Given the description of an element on the screen output the (x, y) to click on. 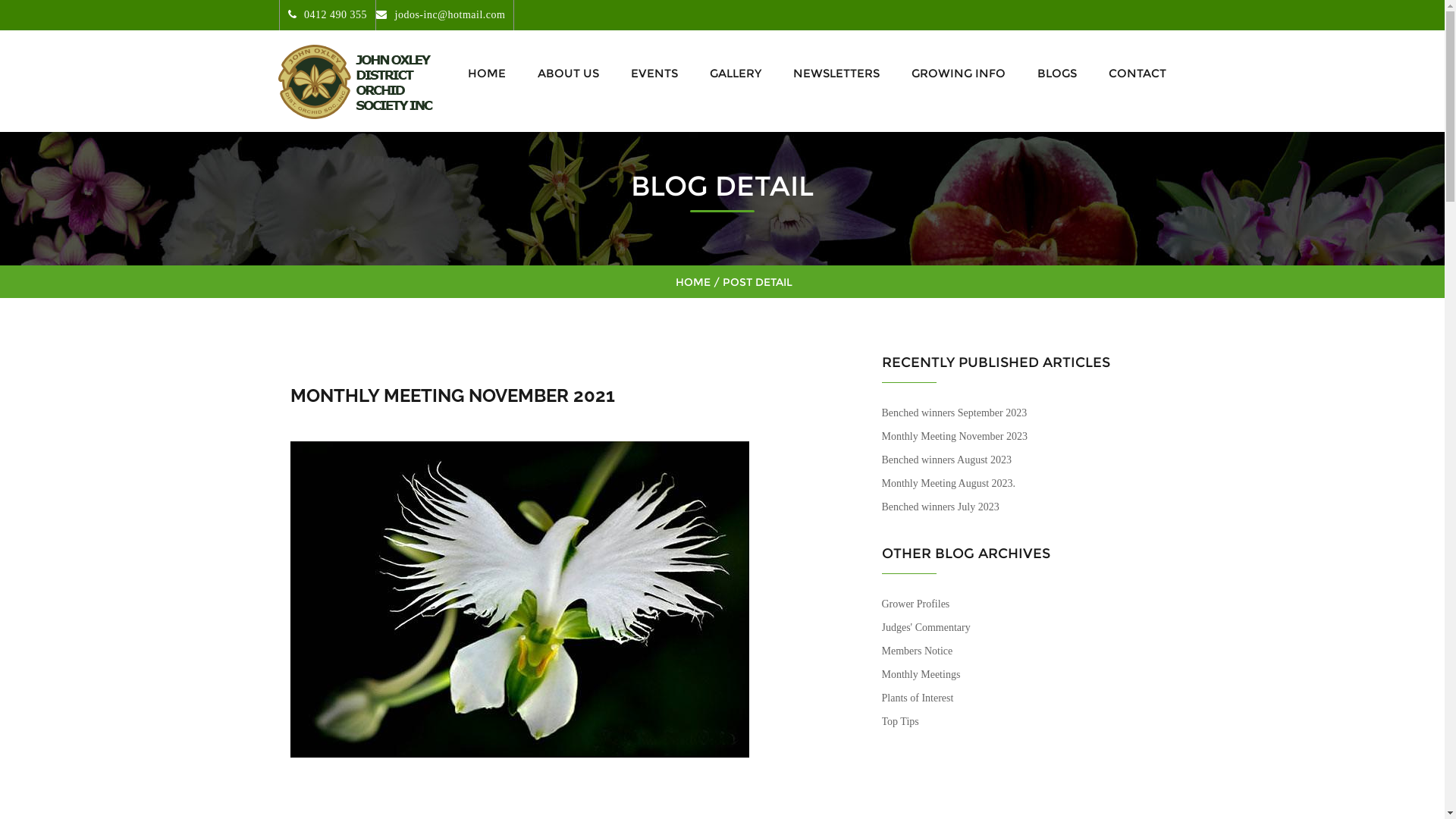
Top Tips Element type: text (899, 721)
Monthly Meeting August 2023. Element type: text (948, 483)
jodos-inc@hotmail.com Element type: text (440, 14)
Monthly Meeting November 2023 Element type: text (953, 436)
CONTACT Element type: text (1132, 72)
Plants of Interest Element type: text (917, 697)
NEWSLETTERS Element type: text (836, 72)
GROWING INFO Element type: text (958, 72)
0412 490 355 Element type: text (327, 14)
BLOGS Element type: text (1056, 72)
Benched winners September 2023 Element type: text (953, 412)
Grower Profiles Element type: text (915, 603)
Monthly Meetings Element type: text (920, 674)
Benched winners July 2023 Element type: text (939, 506)
HOME Element type: text (486, 72)
GALLERY Element type: text (735, 72)
ABOUT US Element type: text (567, 72)
HOME Element type: text (691, 281)
Judges' Commentary Element type: text (925, 627)
Members Notice Element type: text (916, 650)
EVENTS Element type: text (654, 72)
Benched winners August 2023 Element type: text (945, 459)
